Given the description of an element on the screen output the (x, y) to click on. 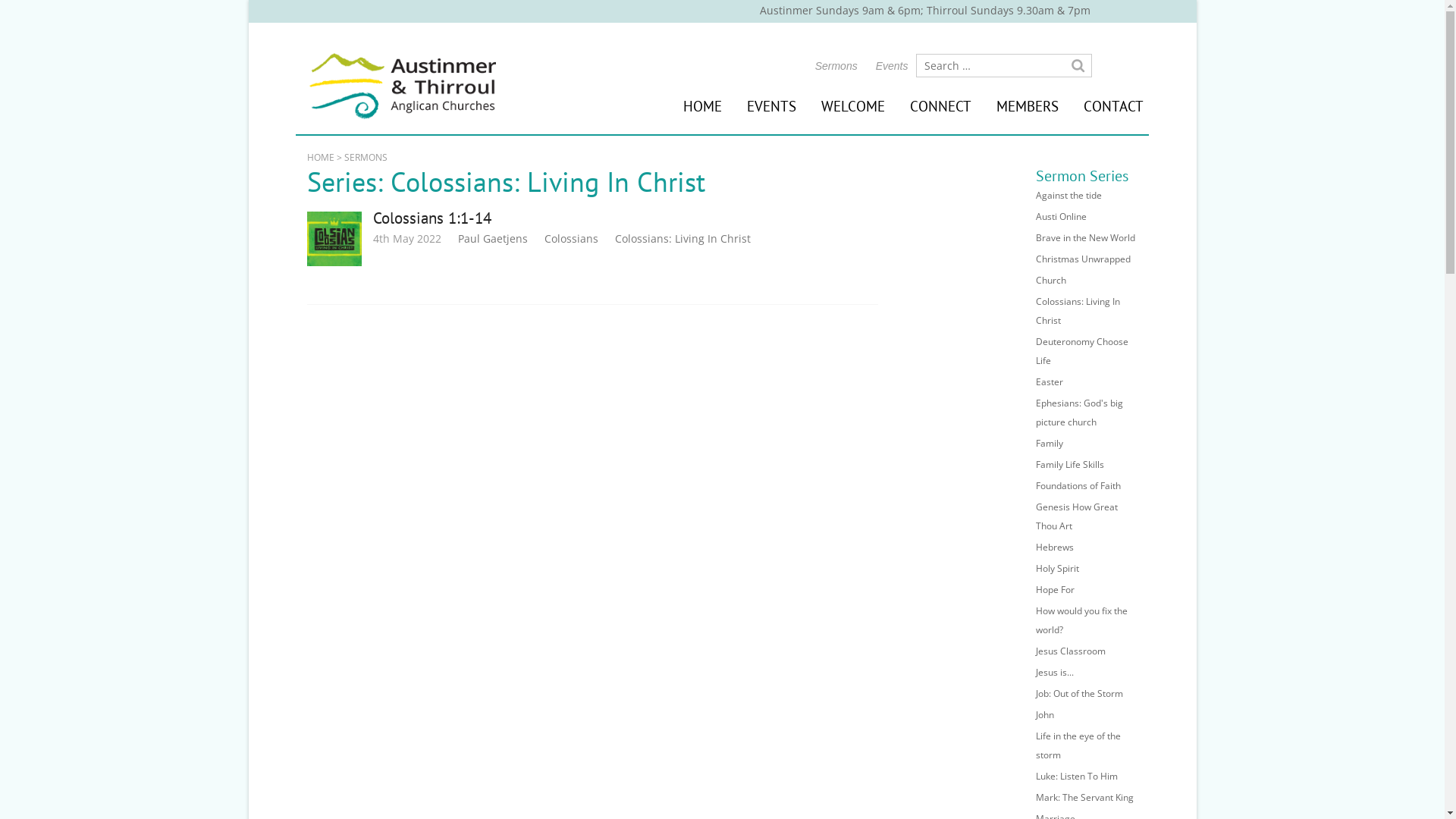
Genesis How Great Thou Art Element type: text (1076, 516)
Foundations of Faith Element type: text (1077, 485)
Job: Out of the Storm Element type: text (1079, 693)
Colossians: Living In Christ Element type: text (682, 238)
Search Element type: text (1077, 65)
MEMBERS Element type: text (1027, 105)
EVENTS Element type: text (771, 105)
Ephesians: God's big picture church Element type: text (1079, 412)
Colossians 1:1-14 Element type: text (432, 217)
Sermons Element type: text (836, 65)
Luke: Listen To Him Element type: text (1076, 775)
Events Element type: text (892, 65)
Paul Gaetjens Element type: text (492, 238)
Christmas Unwrapped Element type: text (1082, 258)
Hebrews Element type: text (1054, 546)
CONNECT Element type: text (940, 105)
CONTACT Element type: text (1113, 105)
Life in the eye of the storm Element type: text (1077, 745)
Easter Element type: text (1049, 381)
Brave in the New World Element type: text (1085, 237)
Deuteronomy Choose Life Element type: text (1081, 351)
SERMONS Element type: text (365, 156)
John Element type: text (1044, 714)
Search for: Element type: hover (1004, 65)
HOME Element type: text (702, 105)
Mark: The Servant King Element type: text (1084, 796)
WELCOME Element type: text (853, 105)
How would you fix the world? Element type: text (1081, 620)
Colossians Element type: text (571, 238)
Church Element type: text (1050, 279)
HOME Element type: text (320, 156)
Colossians: Living In Christ Element type: text (1077, 310)
Jesus Classroom Element type: text (1070, 650)
Family Element type: text (1049, 442)
Austi Online Element type: text (1060, 216)
Hope For Element type: text (1054, 589)
Holy Spirit Element type: text (1057, 567)
Against the tide Element type: text (1068, 194)
Family Life Skills Element type: text (1069, 464)
Jesus is... Element type: text (1054, 671)
